Given the description of an element on the screen output the (x, y) to click on. 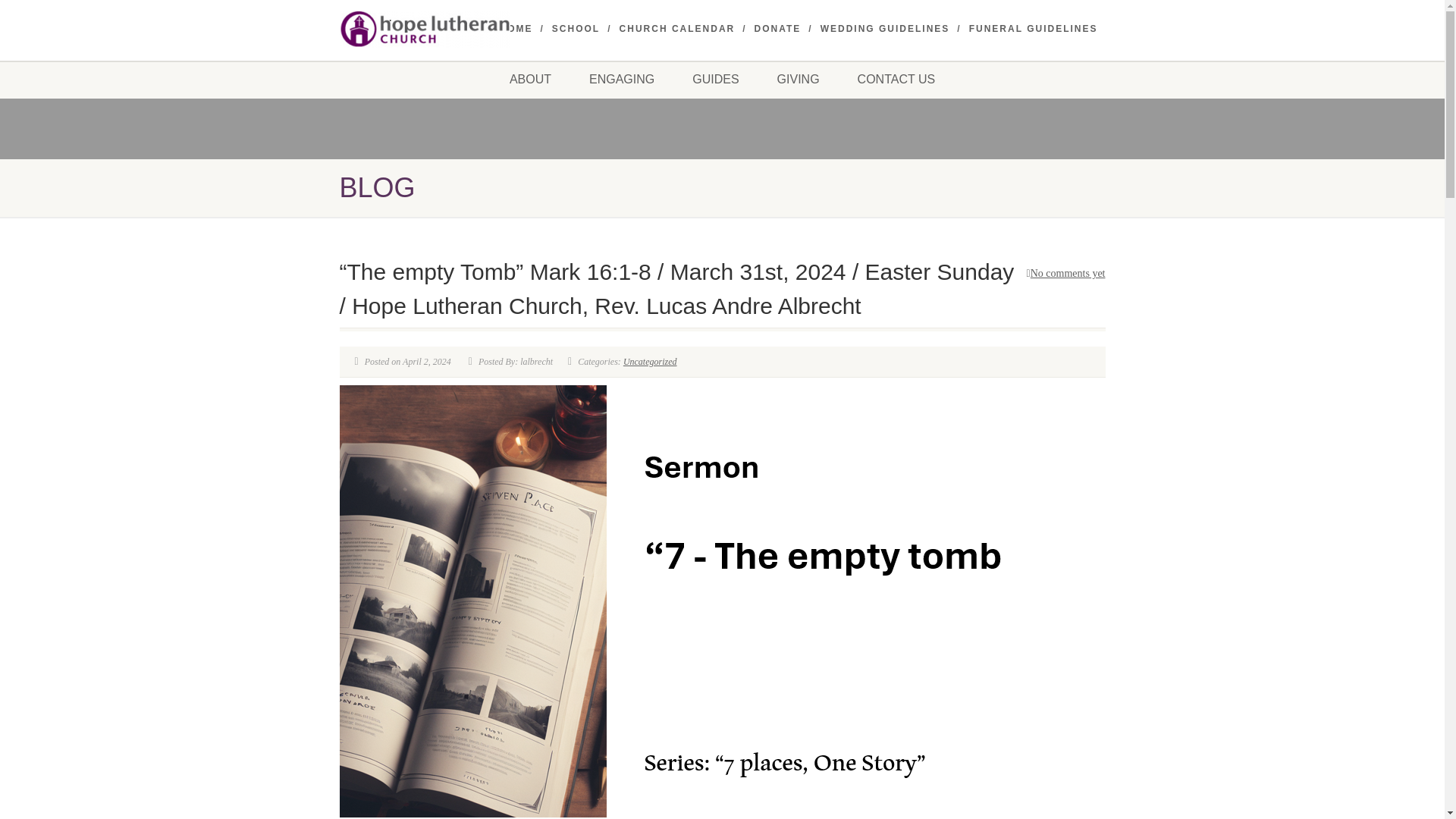
CONTACT US (896, 79)
No comments yet (1065, 273)
GUIDES (714, 79)
Uncategorized (650, 361)
SCHOOL (575, 29)
GIVING (798, 79)
HOME (515, 29)
ABOUT (530, 79)
DONATE (778, 29)
FUNERAL GUIDELINES (1033, 29)
